Given the description of an element on the screen output the (x, y) to click on. 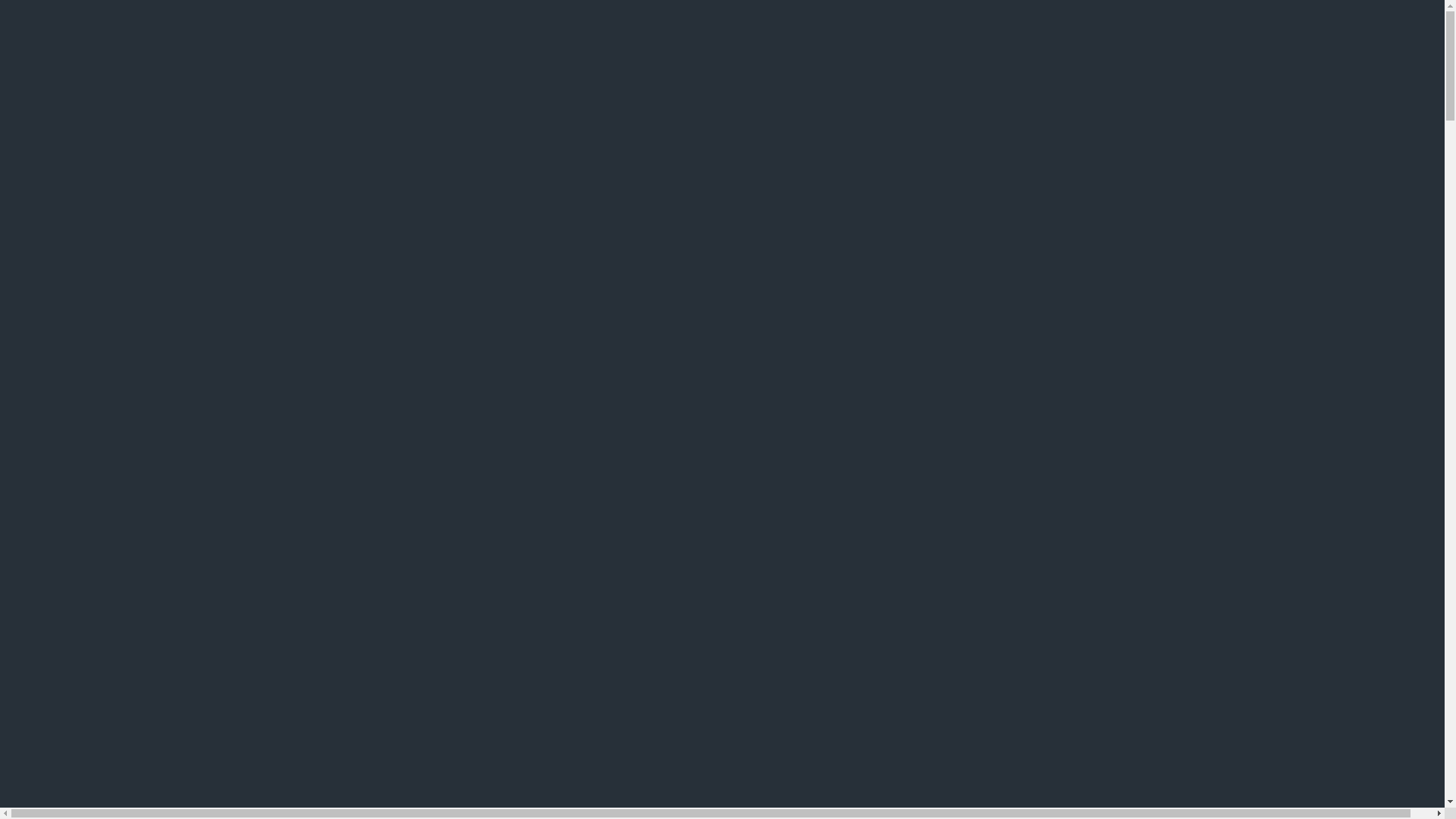
Home Element type: text (54, 401)
Skip to main content Element type: text (5, 5)
About Element type: text (62, 200)
Pay an invoice Element type: text (90, 345)
Home Element type: text (62, 181)
SIGN UP Element type: text (485, 542)
SIGN UP Element type: text (391, 542)
SIGN UP Element type: text (299, 542)
Web Hosting Element type: text (115, 236)
Useful Resources Element type: text (101, 291)
Contact Element type: text (68, 327)
Crypto Currency Element type: text (126, 272)
Web Design Element type: text (112, 254)
Services Element type: text (71, 218)
